Given the description of an element on the screen output the (x, y) to click on. 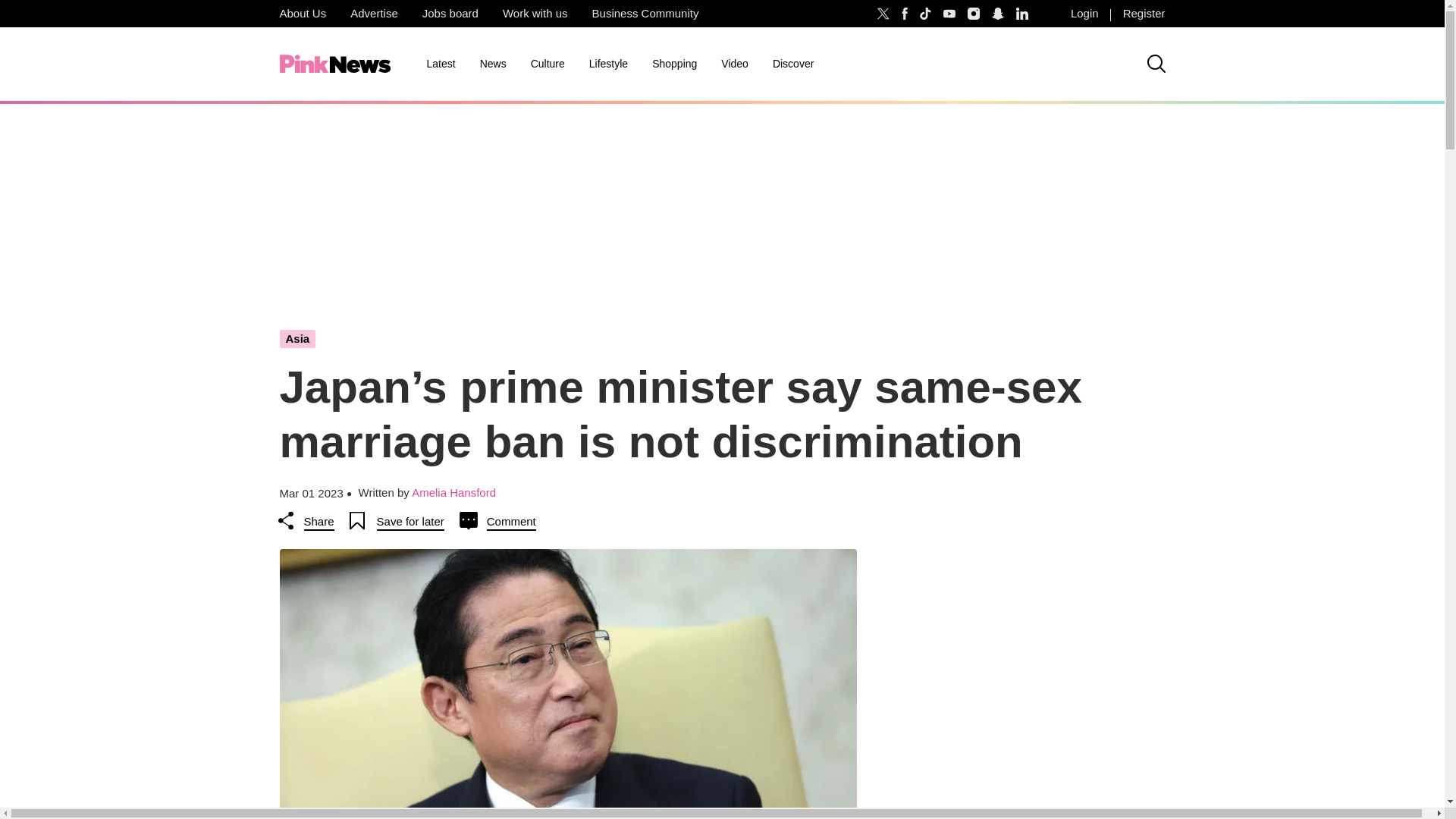
Lifestyle (608, 63)
Advertise (373, 13)
Culture (547, 63)
Latest (440, 63)
About Us (301, 13)
Jobs board (450, 13)
Business Community (645, 13)
News (493, 63)
Login (1084, 13)
Register (1143, 13)
